Given the description of an element on the screen output the (x, y) to click on. 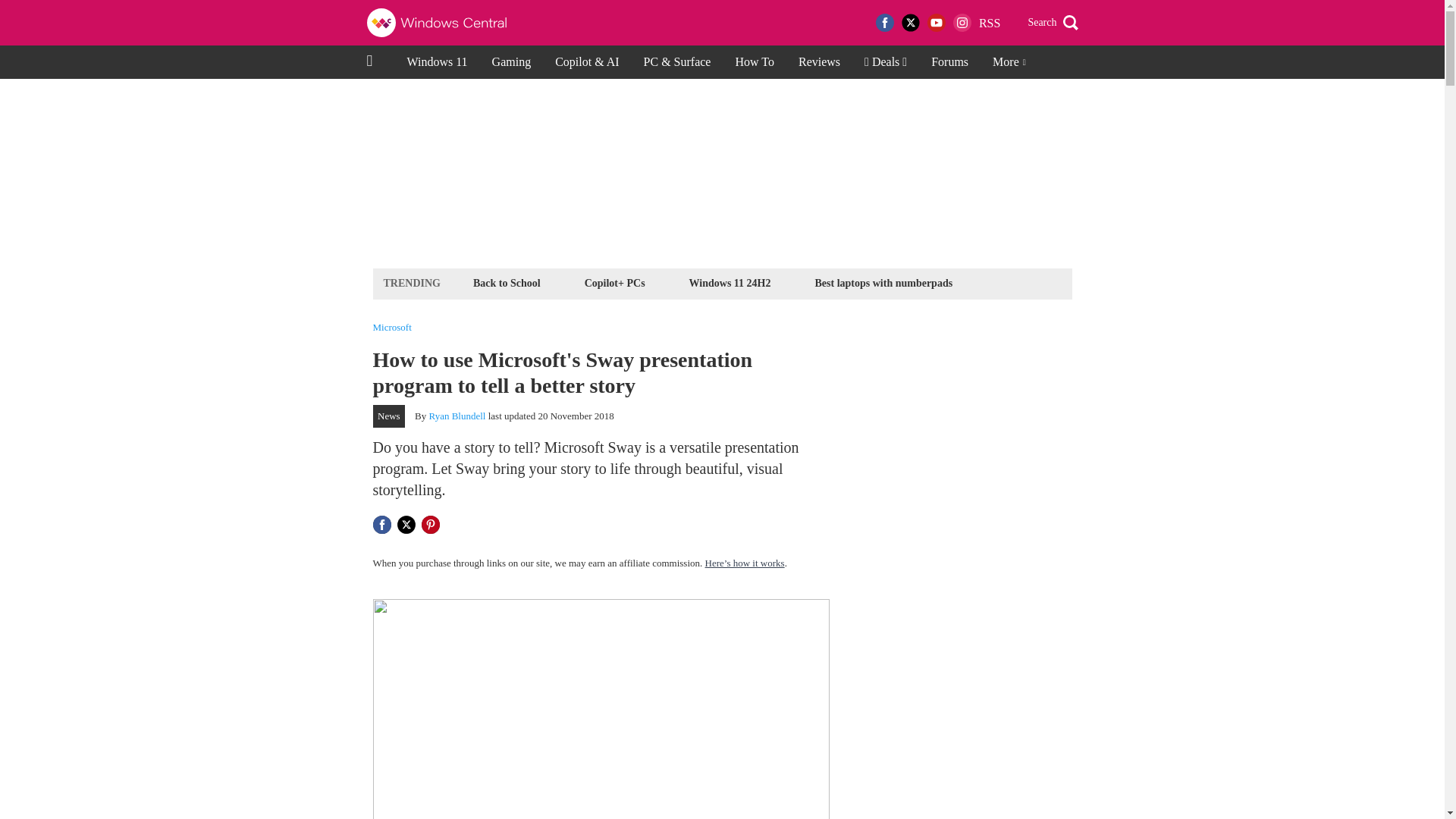
Best laptops with numberpads (883, 282)
Windows 11 24H2 (730, 282)
Reviews (818, 61)
News (389, 415)
Back to School (506, 282)
RSS (989, 22)
How To (754, 61)
Microsoft (392, 327)
Gaming (511, 61)
Forums (948, 61)
